Given the description of an element on the screen output the (x, y) to click on. 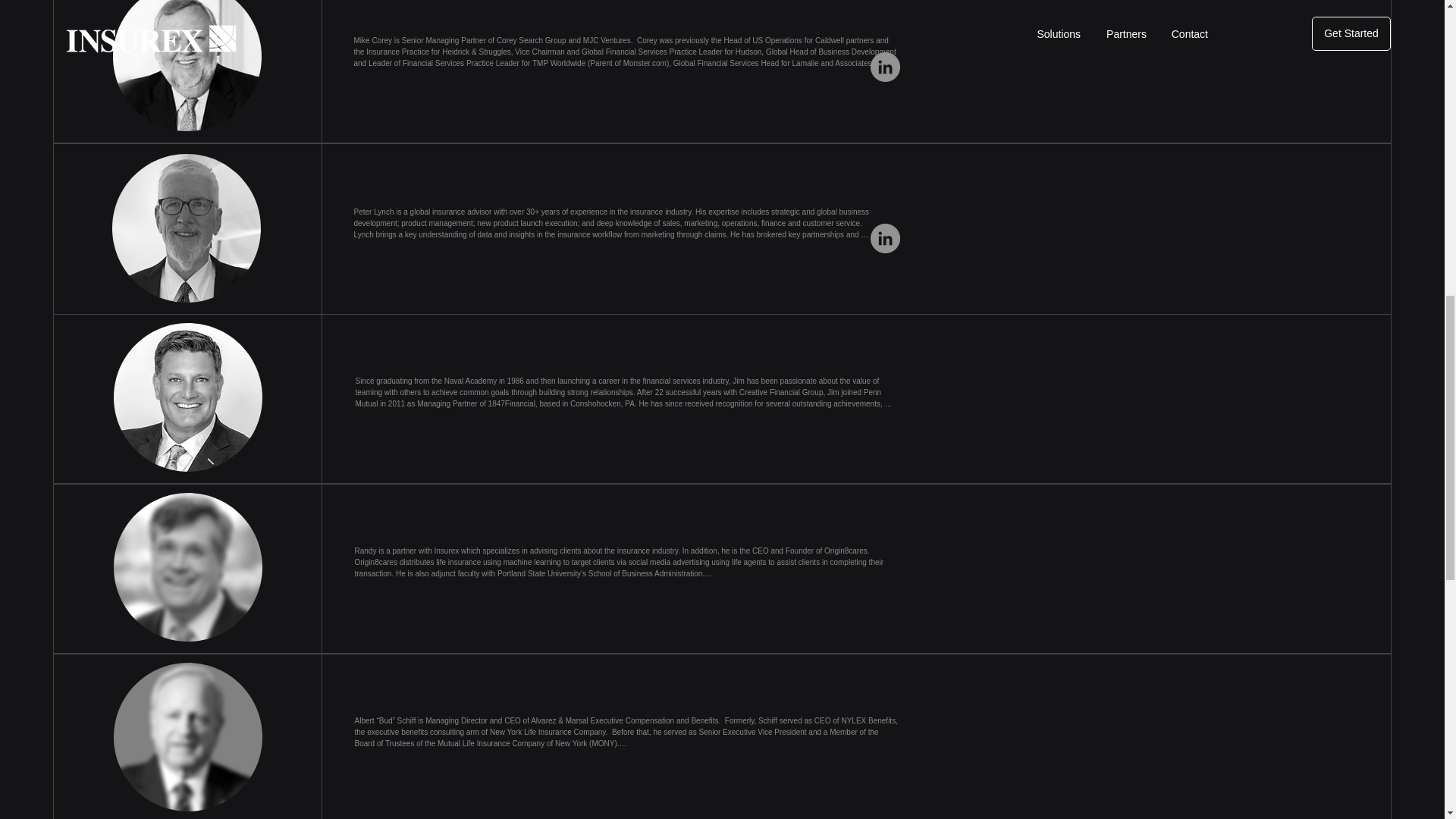
Mike Corey.png (187, 65)
Peter Lynch.png (187, 396)
Fred Jonske.png (187, 736)
Peter Lynch.png (186, 227)
